Given the description of an element on the screen output the (x, y) to click on. 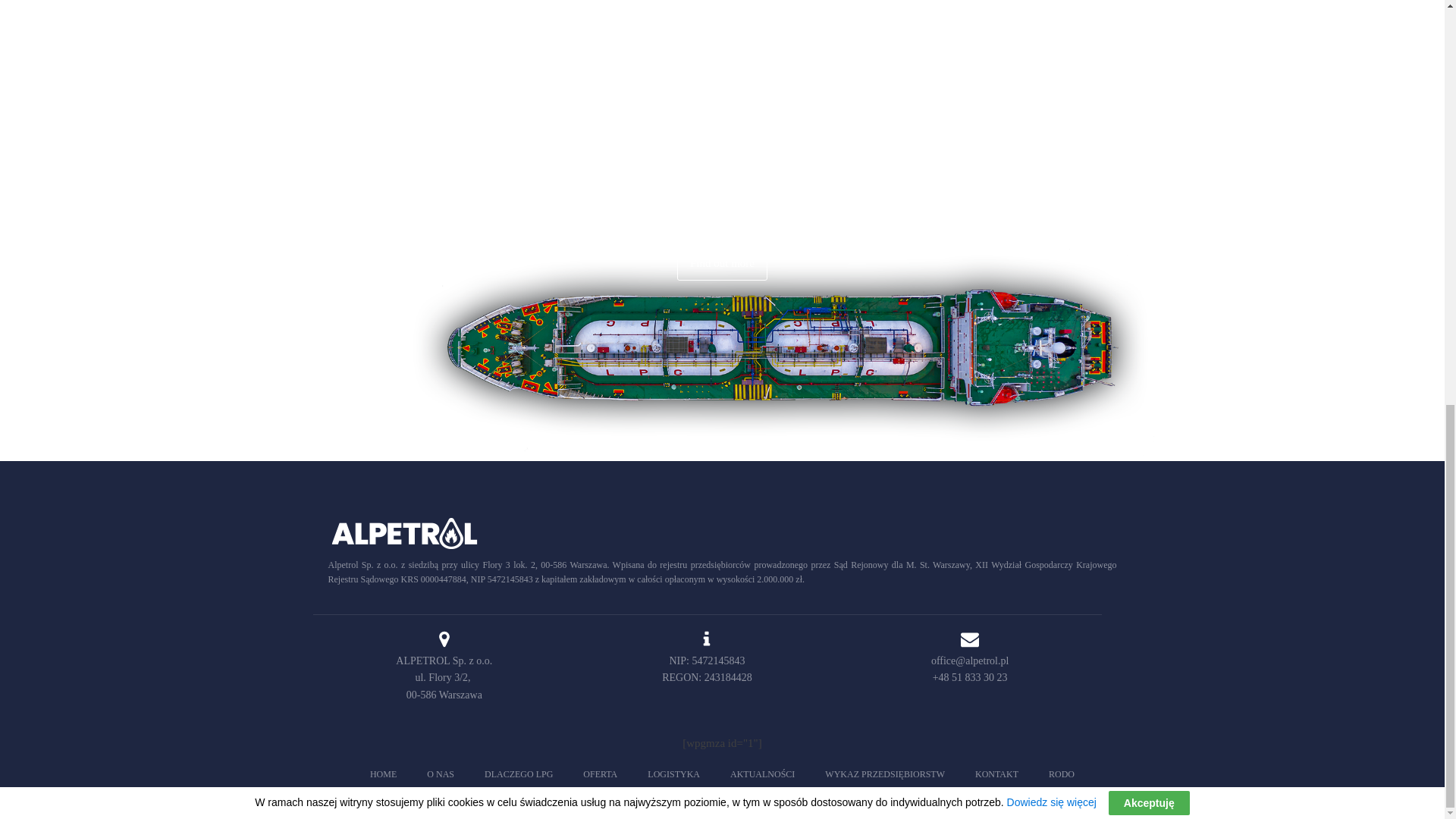
Find out more (722, 262)
DLACZEGO LPG (517, 774)
LOGISTYKA (672, 774)
OFERTA (599, 774)
O NAS (440, 774)
HOME (383, 774)
